Given the description of an element on the screen output the (x, y) to click on. 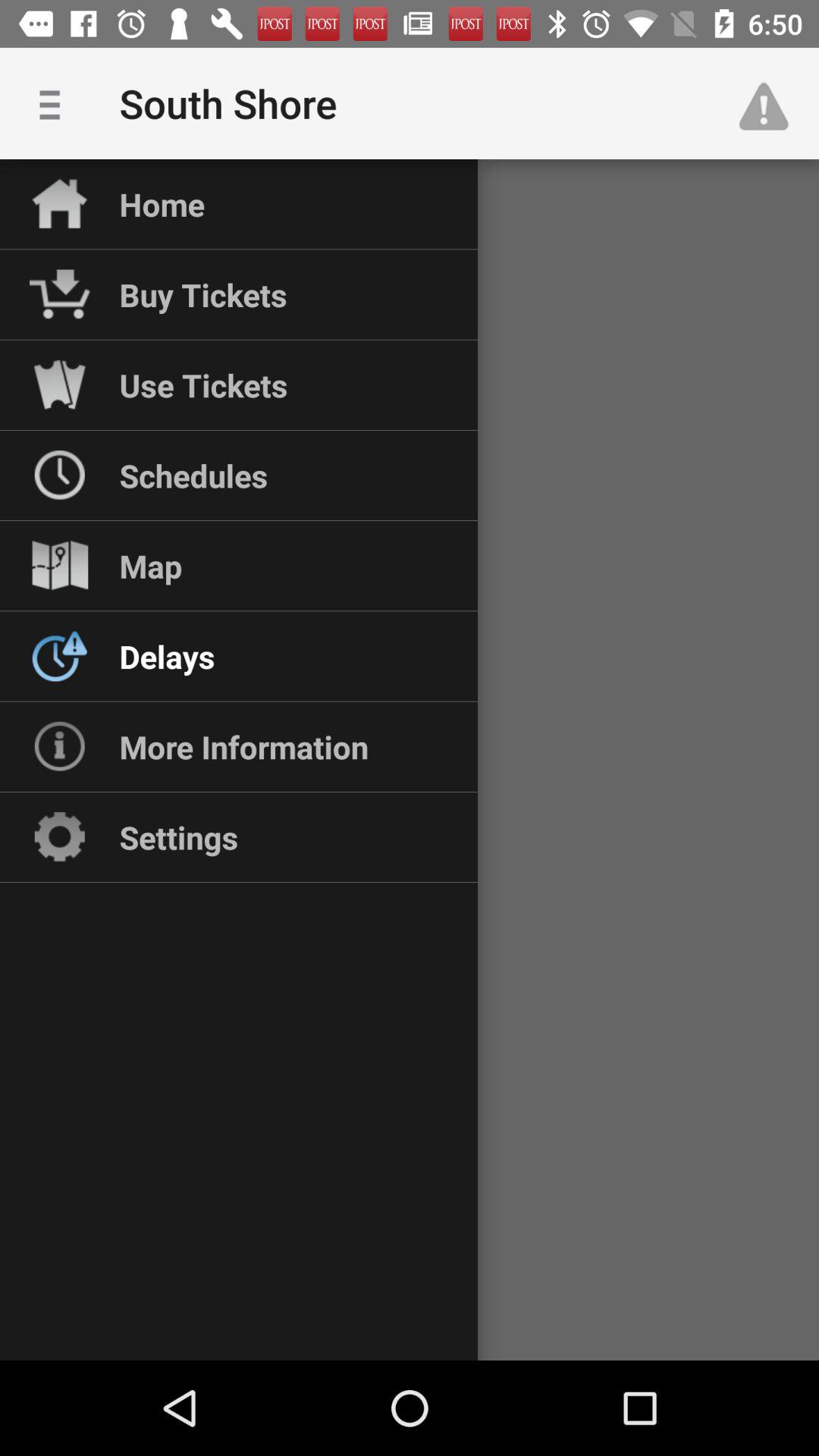
tap the buy tickets item (203, 294)
